Given the description of an element on the screen output the (x, y) to click on. 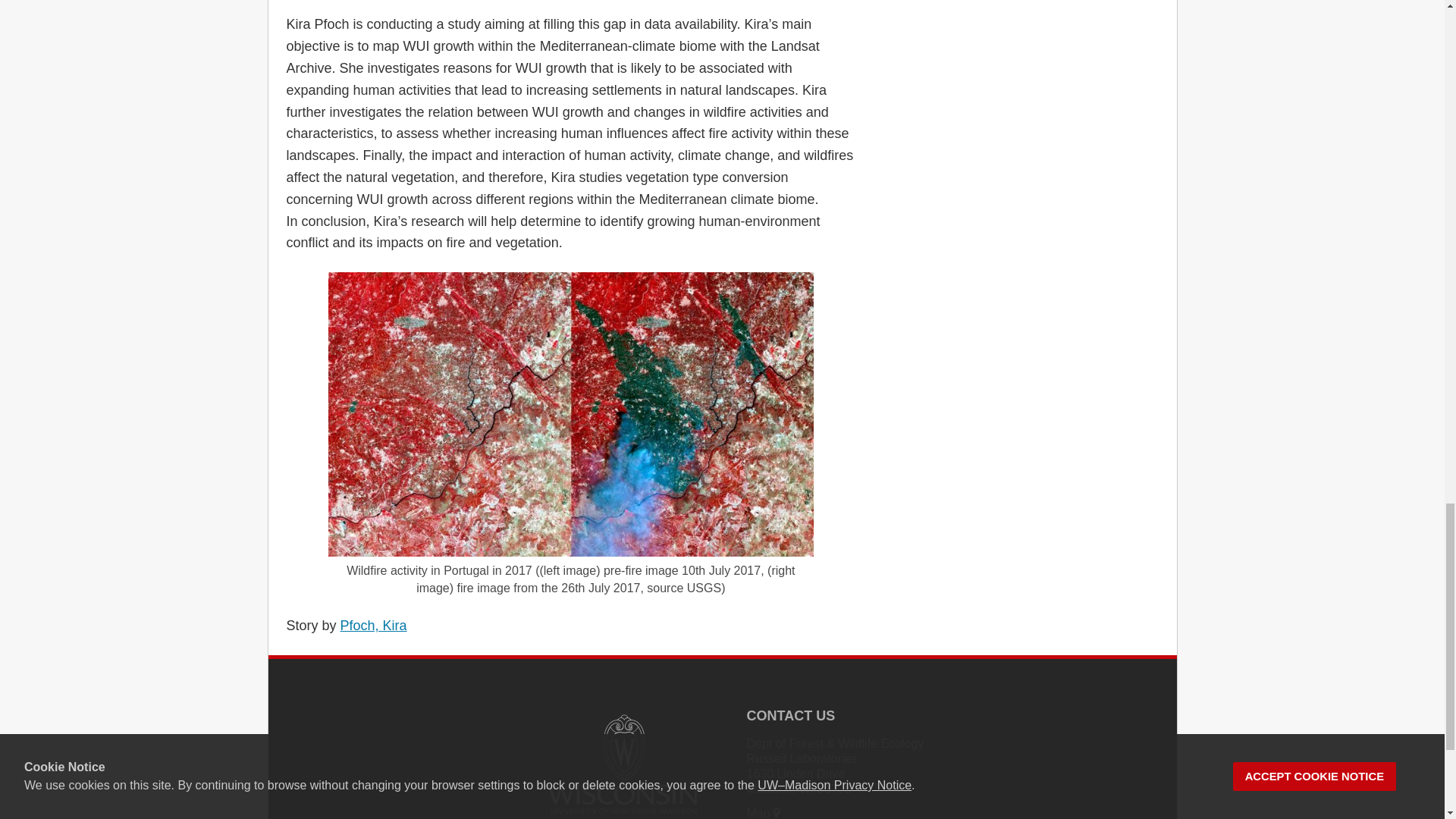
map marker (776, 812)
University logo that links to main university website (621, 763)
Pfoch, Kira (373, 625)
